Given the description of an element on the screen output the (x, y) to click on. 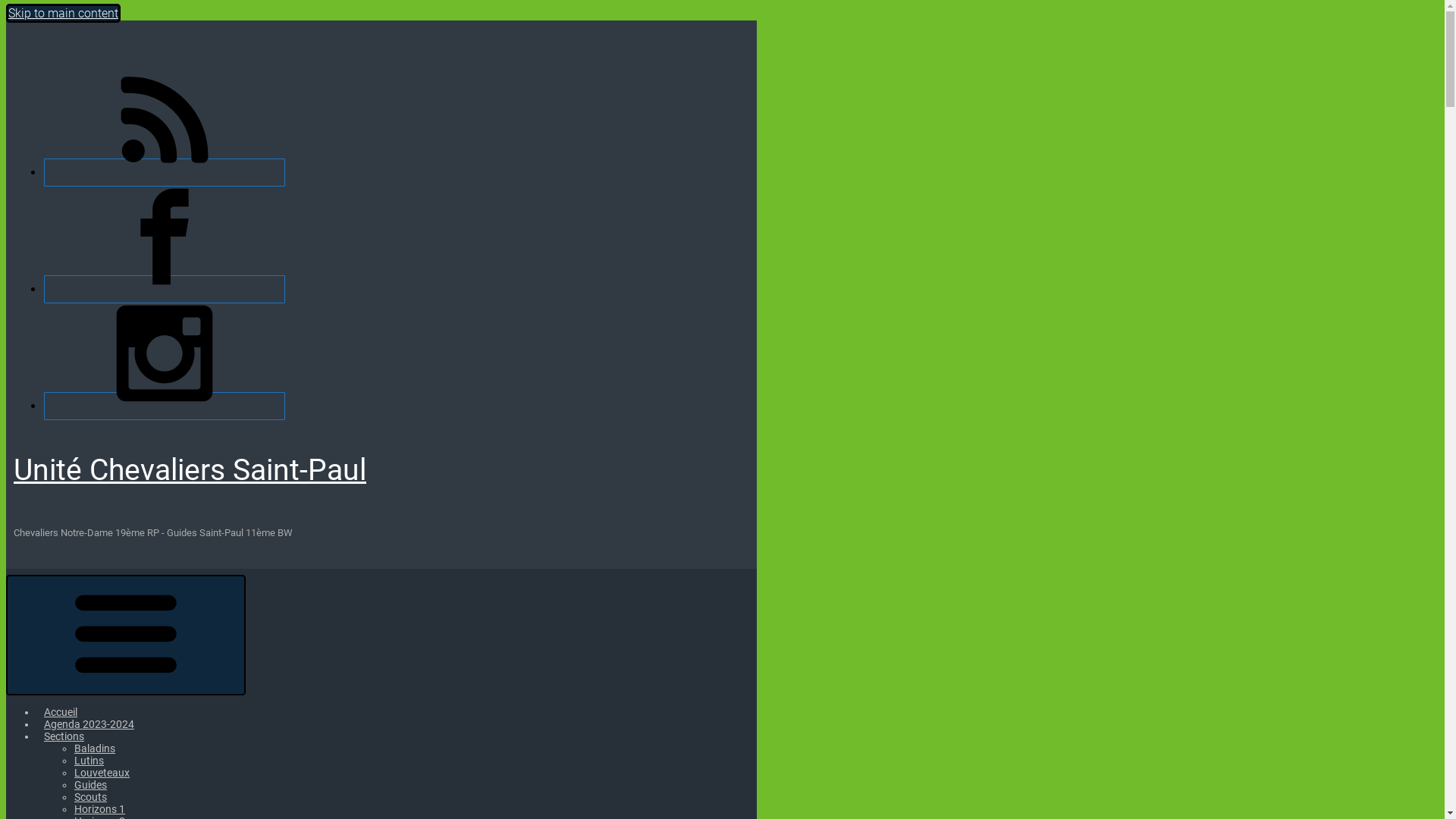
Scouts Element type: text (90, 796)
Agenda 2023-2024 Element type: text (88, 724)
Horizons 1 Element type: text (99, 809)
Guides Element type: text (90, 784)
Instagram Element type: hover (164, 406)
Louveteaux Element type: text (101, 772)
Accueil Element type: text (60, 712)
RSS Feed Element type: hover (164, 172)
Facebook Element type: hover (164, 289)
Sections Element type: text (63, 736)
Baladins Element type: text (94, 748)
Skip to main content Element type: text (63, 12)
Lutins Element type: text (88, 760)
